Given the description of an element on the screen output the (x, y) to click on. 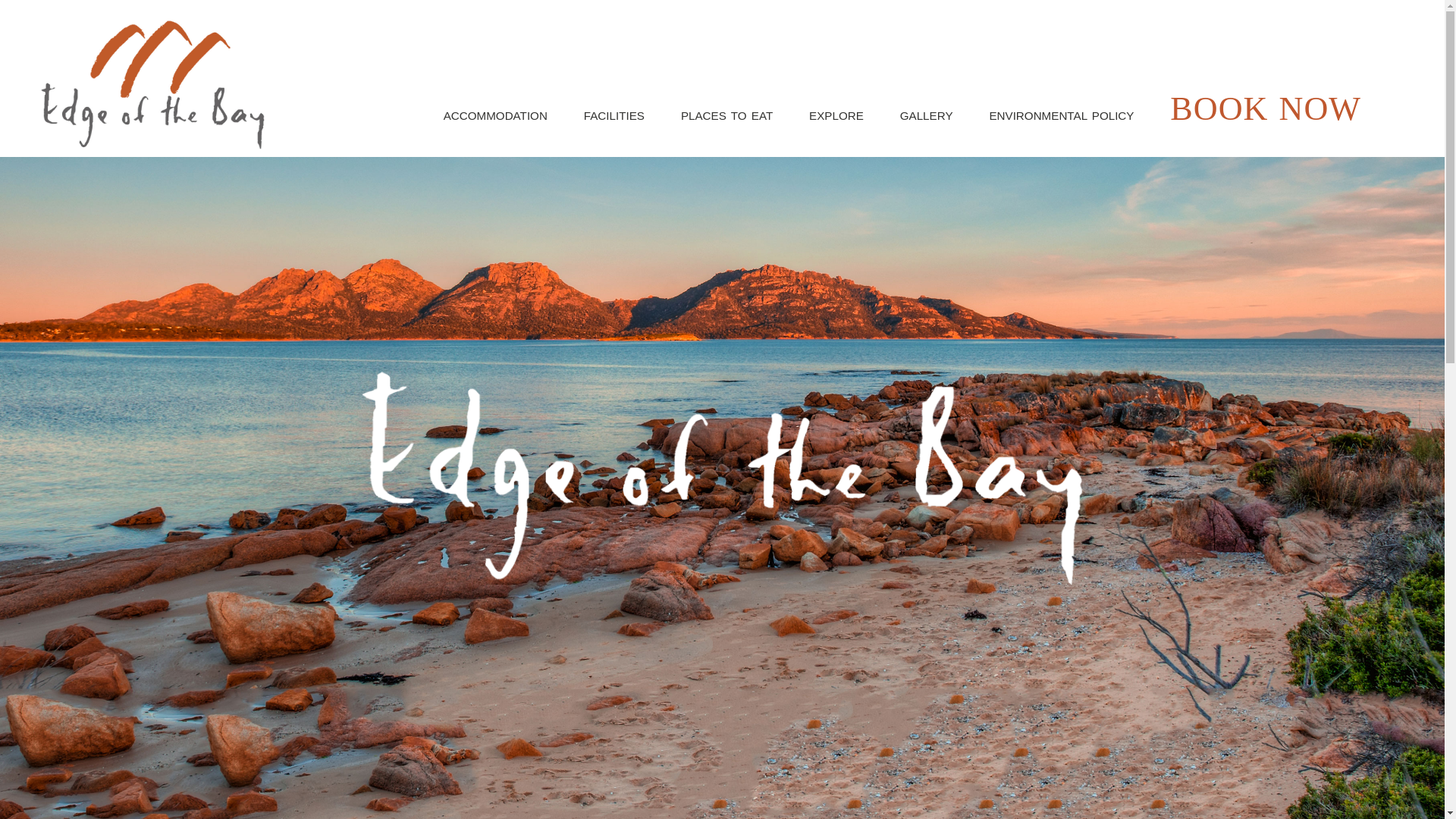
GALLERY Element type: text (926, 115)
ACCOMMODATION Element type: text (495, 115)
ENVIRONMENTAL POLICY Element type: text (1061, 115)
BOOK NOW Element type: text (1265, 108)
FACILITIES Element type: text (613, 115)
PLACES TO EAT Element type: text (726, 115)
EXPLORE Element type: text (836, 115)
